Given the description of an element on the screen output the (x, y) to click on. 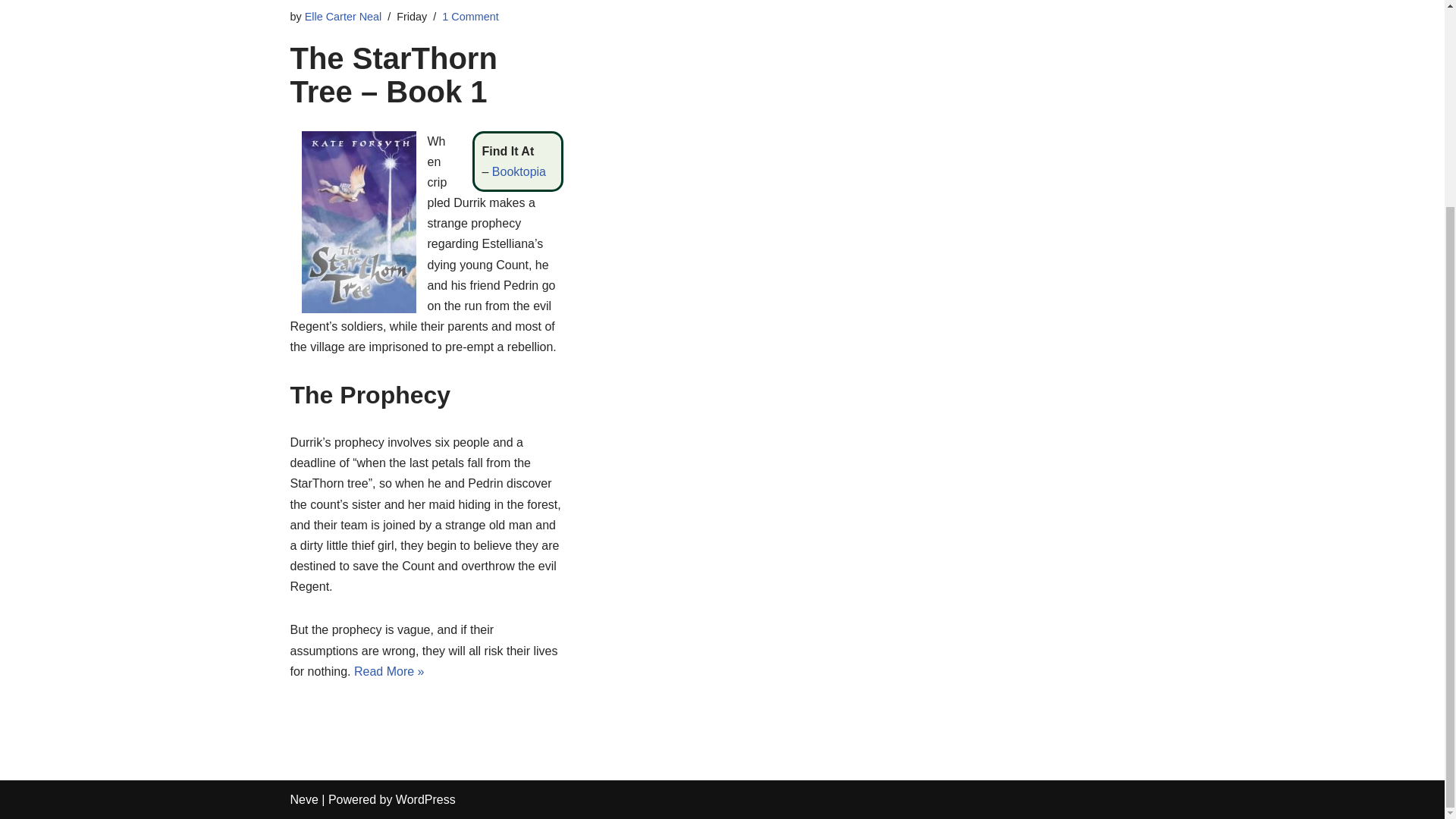
Posts by Elle Carter Neal (342, 16)
